Given the description of an element on the screen output the (x, y) to click on. 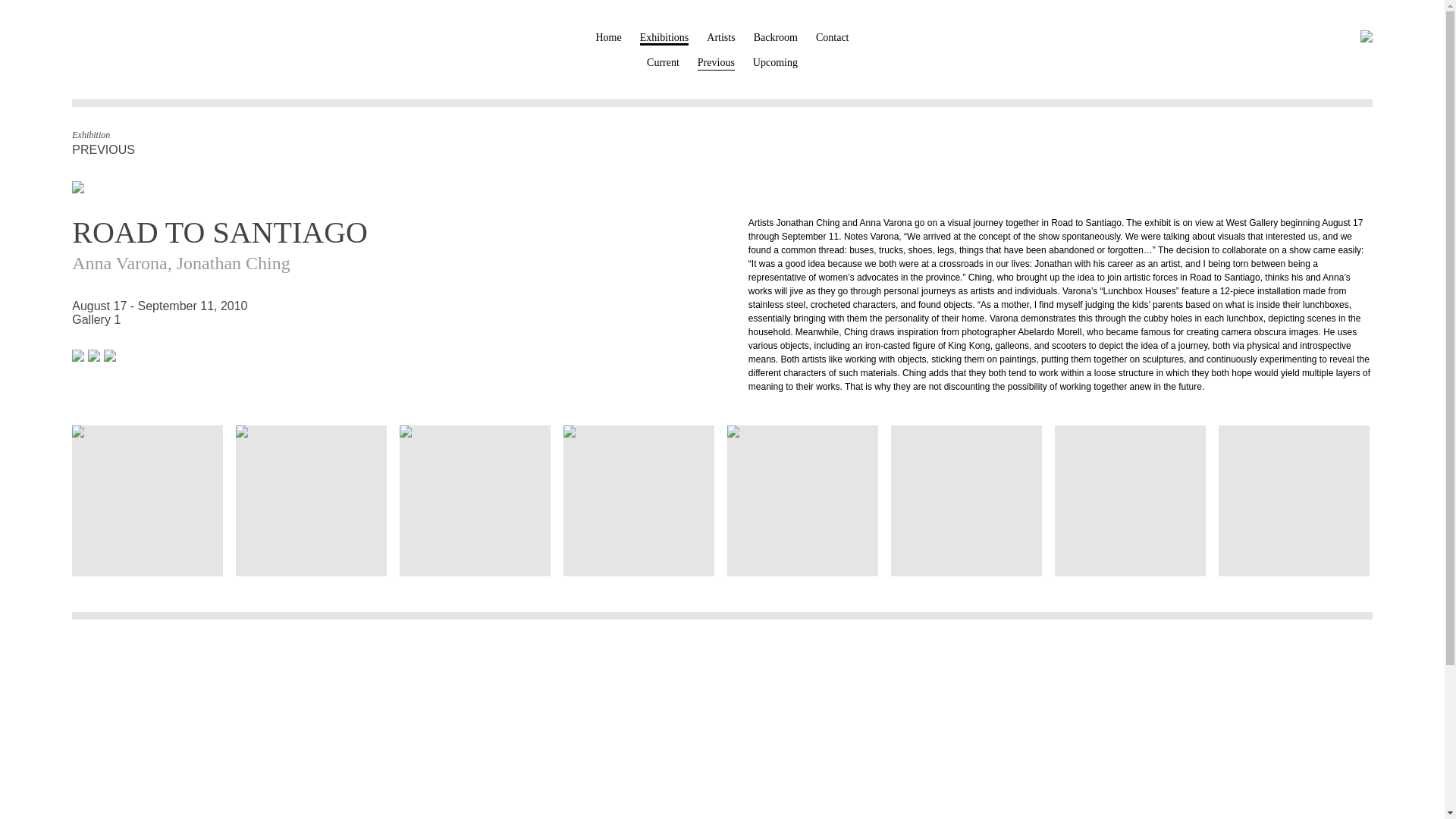
Exhibitions (664, 38)
Anna Varona (801, 431)
Jonathan Ching (232, 262)
Current (662, 62)
Home (608, 37)
Upcoming (774, 62)
Contact (831, 37)
Anna Varona (119, 262)
Backroom (775, 37)
Previous (716, 63)
Artists (720, 37)
Anna Varona (638, 431)
